Given the description of an element on the screen output the (x, y) to click on. 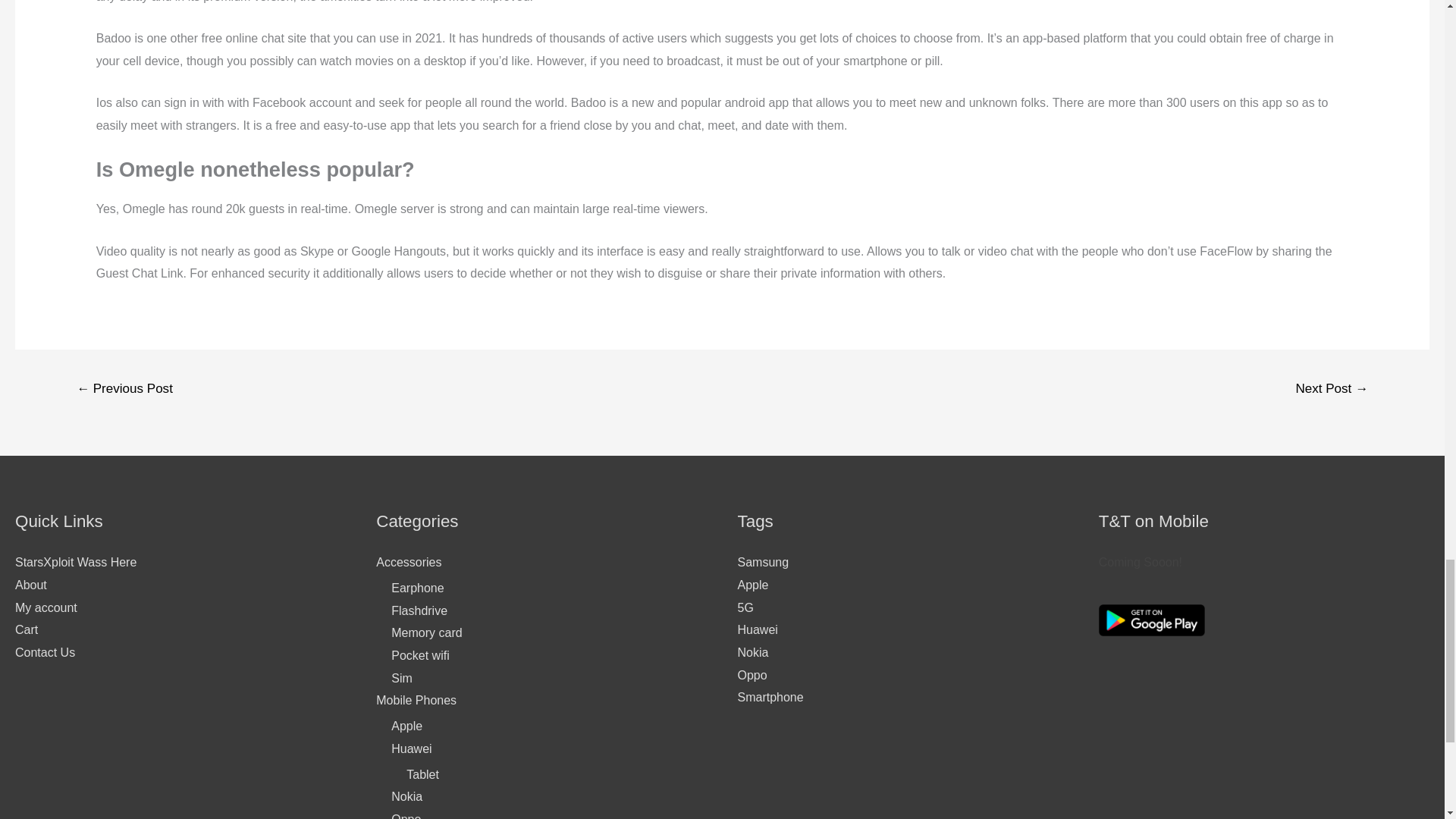
Cart (25, 629)
Memory card (426, 632)
Contact Us (44, 652)
Accessories (408, 562)
StarsXploit Wass Here (75, 562)
My account (45, 607)
About (30, 584)
Flashdrive (418, 610)
Earphone (417, 587)
